Given the description of an element on the screen output the (x, y) to click on. 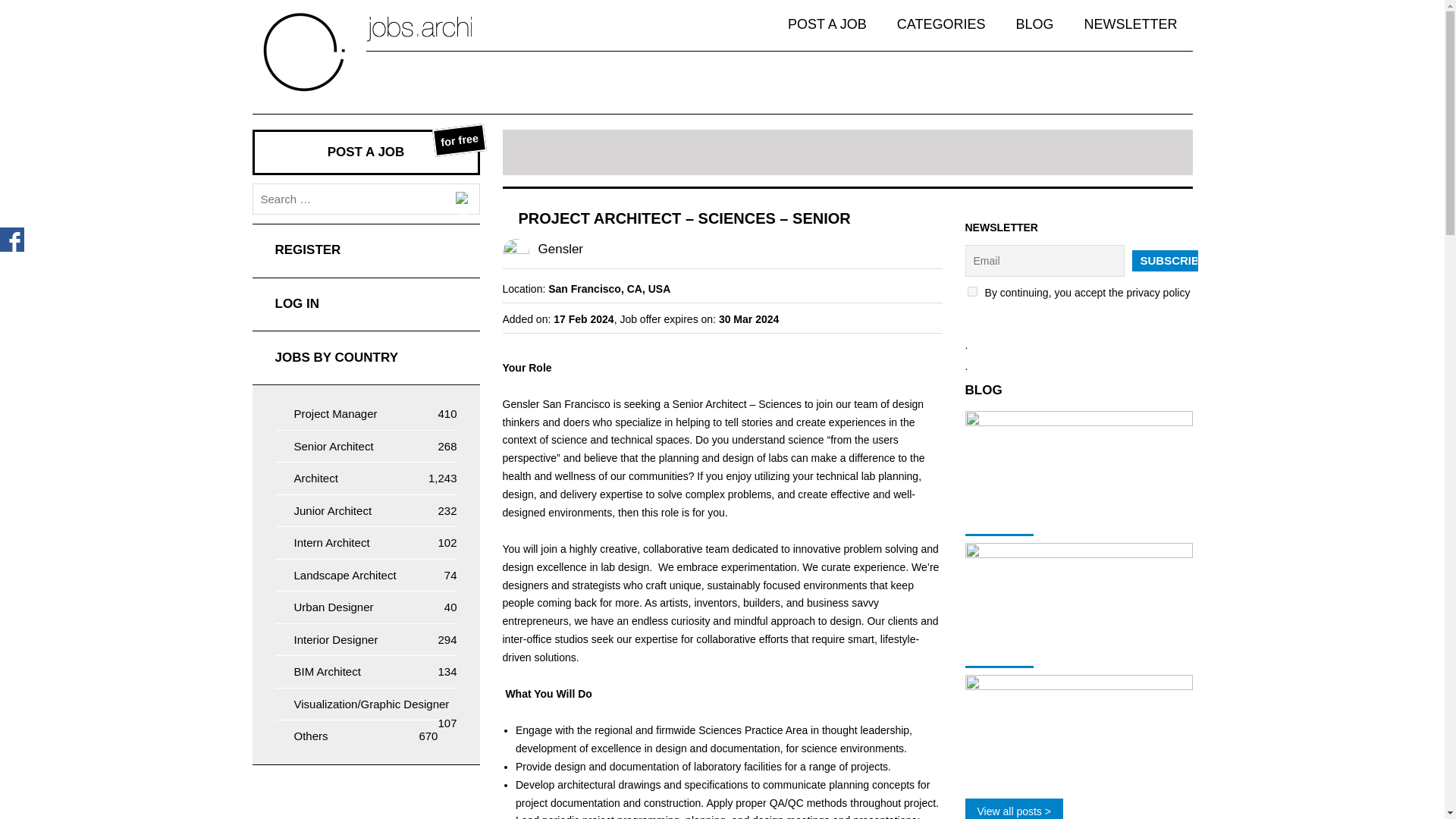
CATEGORIES (941, 24)
BLOG (1034, 24)
NEWSLETTER (1130, 24)
JOBS BY COUNTRY (365, 358)
LOG IN (365, 304)
Junior Architect (333, 510)
Search for: (365, 151)
Architect (348, 199)
BIM Architect (315, 477)
Urban Designer (327, 671)
Interior Designer (334, 606)
Project Manager (336, 639)
Senior Architect (335, 413)
REGISTER (334, 445)
